Given the description of an element on the screen output the (x, y) to click on. 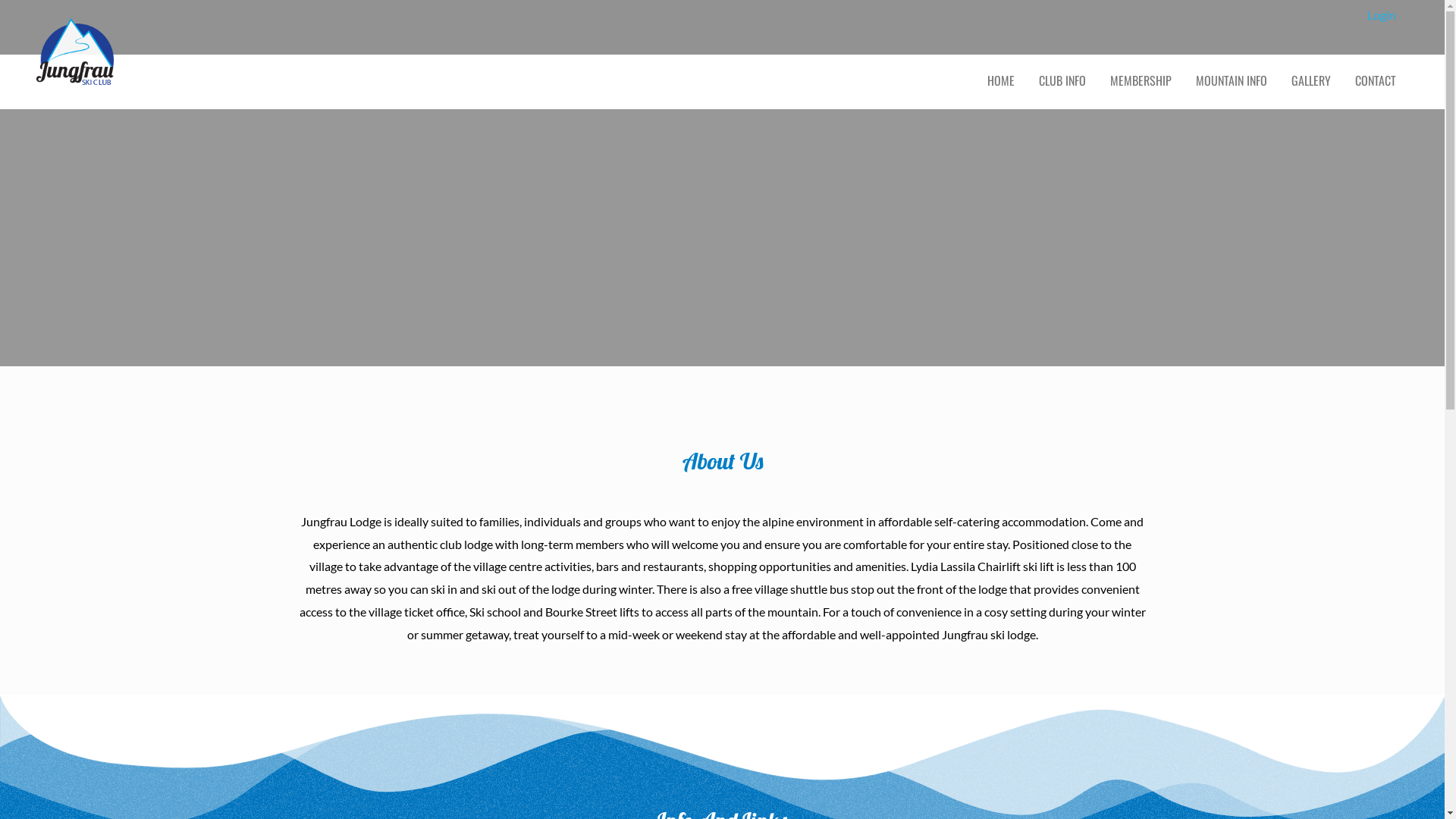
MEMBERSHIP Element type: text (1140, 80)
Login Element type: text (1381, 15)
HOME Element type: text (1000, 80)
CONTACT Element type: text (1375, 80)
GALLERY Element type: text (1311, 80)
MOUNTAIN INFO Element type: text (1231, 80)
CLUB INFO Element type: text (1062, 80)
